Given the description of an element on the screen output the (x, y) to click on. 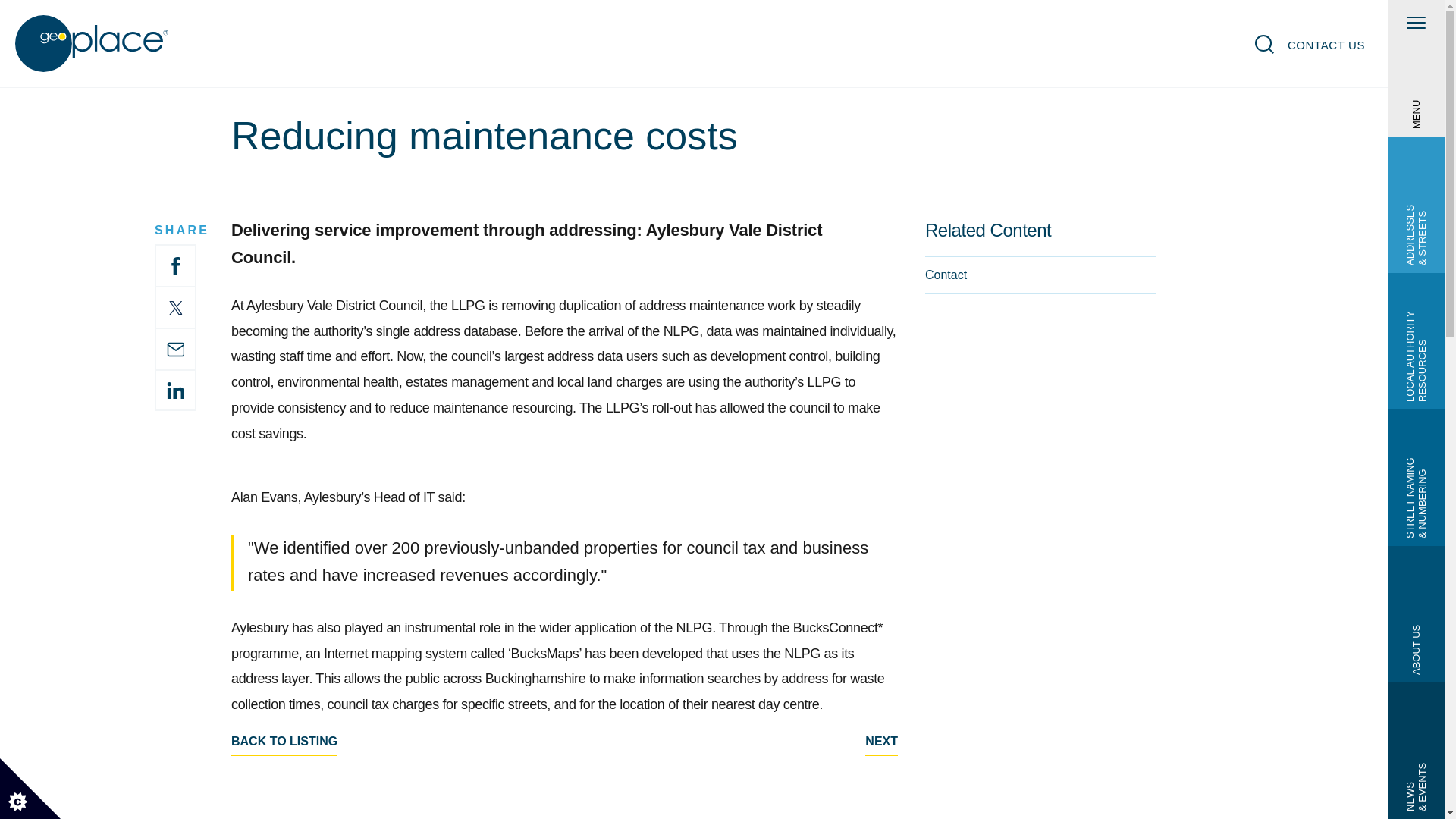
Home (92, 43)
Show search (1264, 44)
CONTACT US (1326, 44)
